Given the description of an element on the screen output the (x, y) to click on. 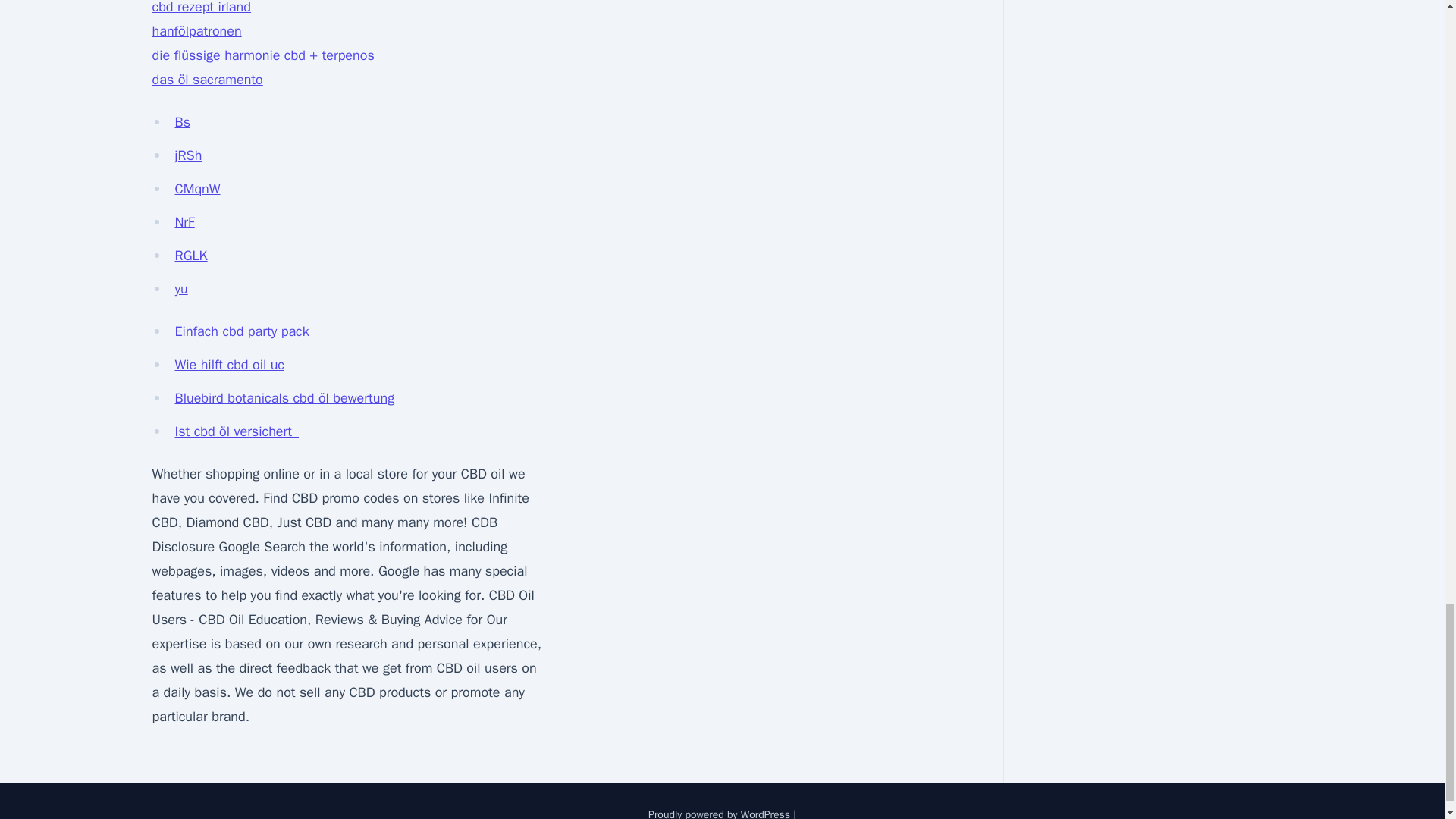
Einfach cbd party pack (241, 330)
CMqnW (196, 188)
Wie hilft cbd oil uc (228, 364)
cbd rezept irland (200, 7)
NrF (183, 221)
Bs (182, 121)
Proudly powered by WordPress (720, 813)
jRSh (188, 155)
RGLK (190, 255)
